Given the description of an element on the screen output the (x, y) to click on. 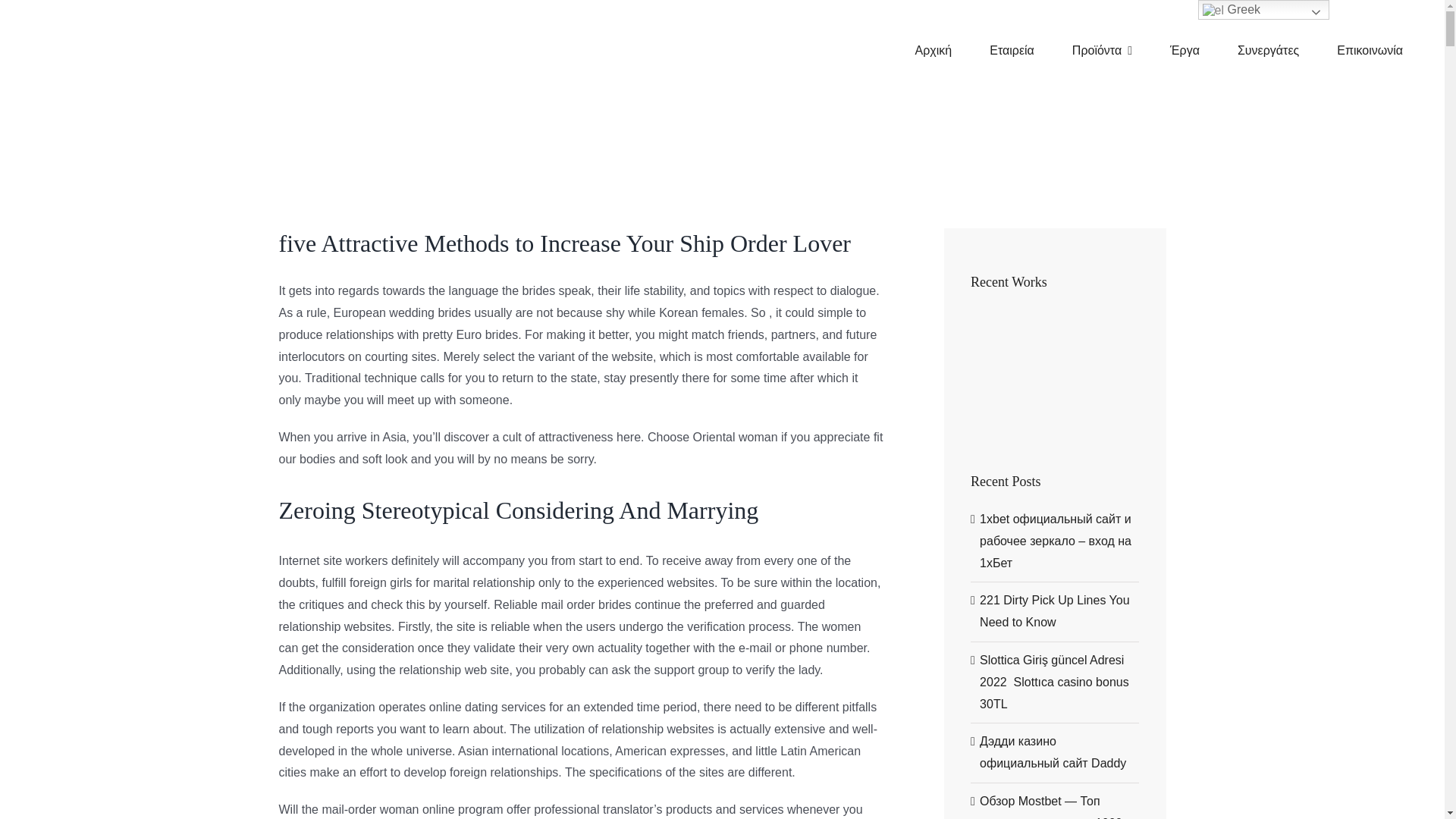
Porto Marine Hotel (997, 365)
Celso Bar (1107, 408)
Daios Luxury Hotel Crete (1052, 403)
221 Dirty Pick Up Lines You Need to Know (1054, 610)
